Given the description of an element on the screen output the (x, y) to click on. 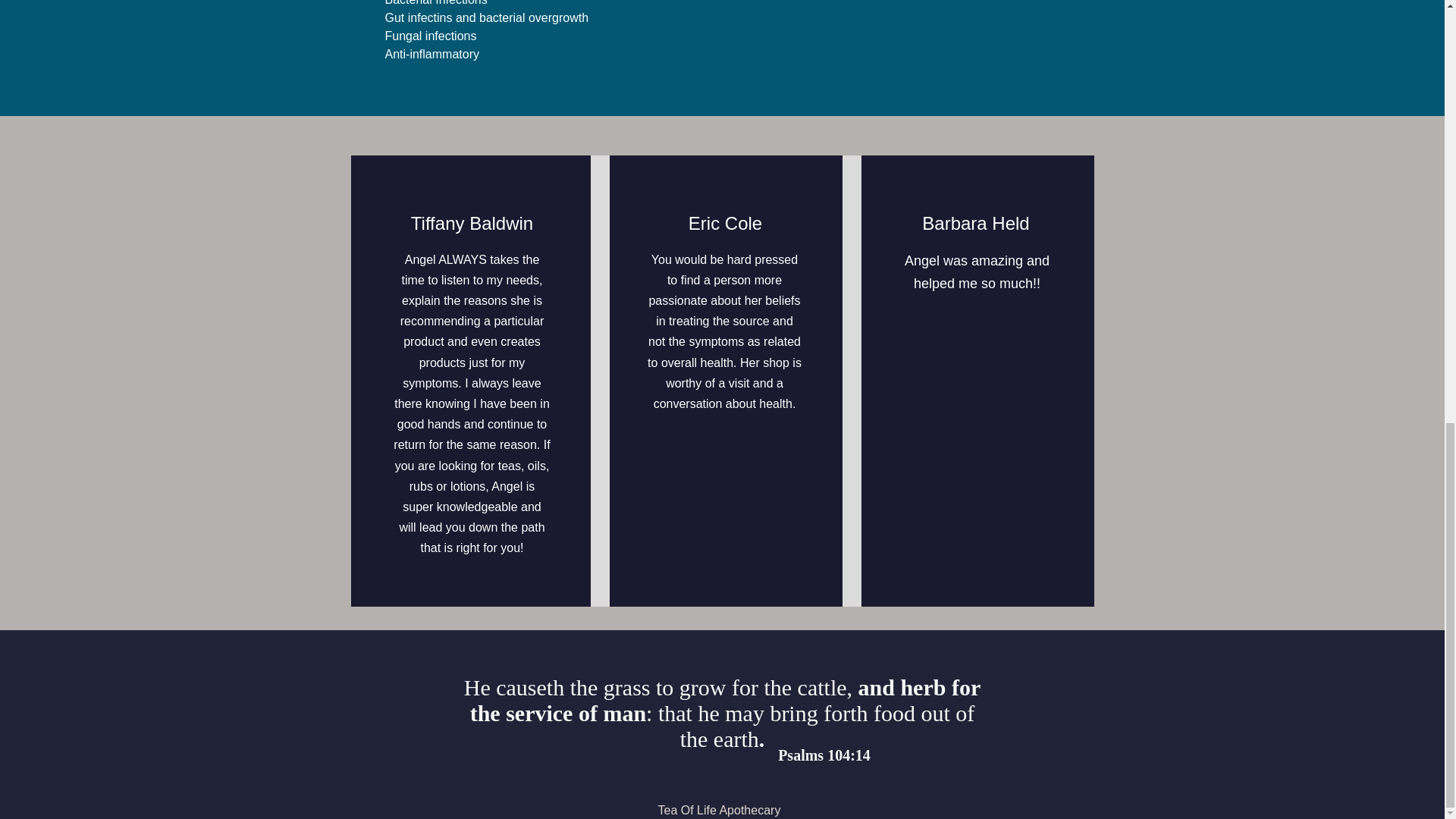
Psalms 104:14 (823, 754)
